Given the description of an element on the screen output the (x, y) to click on. 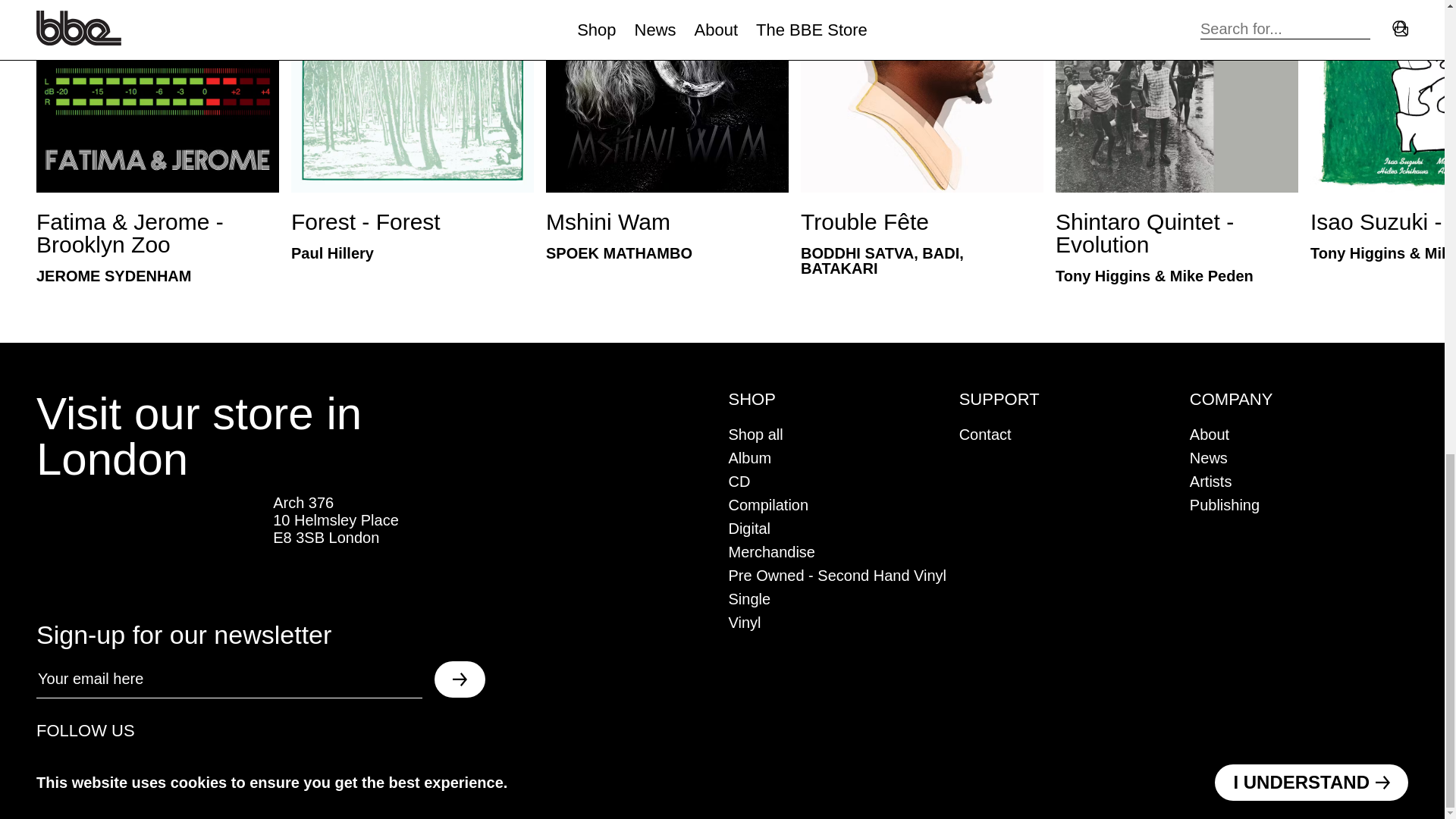
Compilation (667, 130)
The BBE Store in GQ Magazine (768, 504)
Shop all (148, 545)
Digital (755, 434)
CD (749, 528)
Album (738, 481)
